Given the description of an element on the screen output the (x, y) to click on. 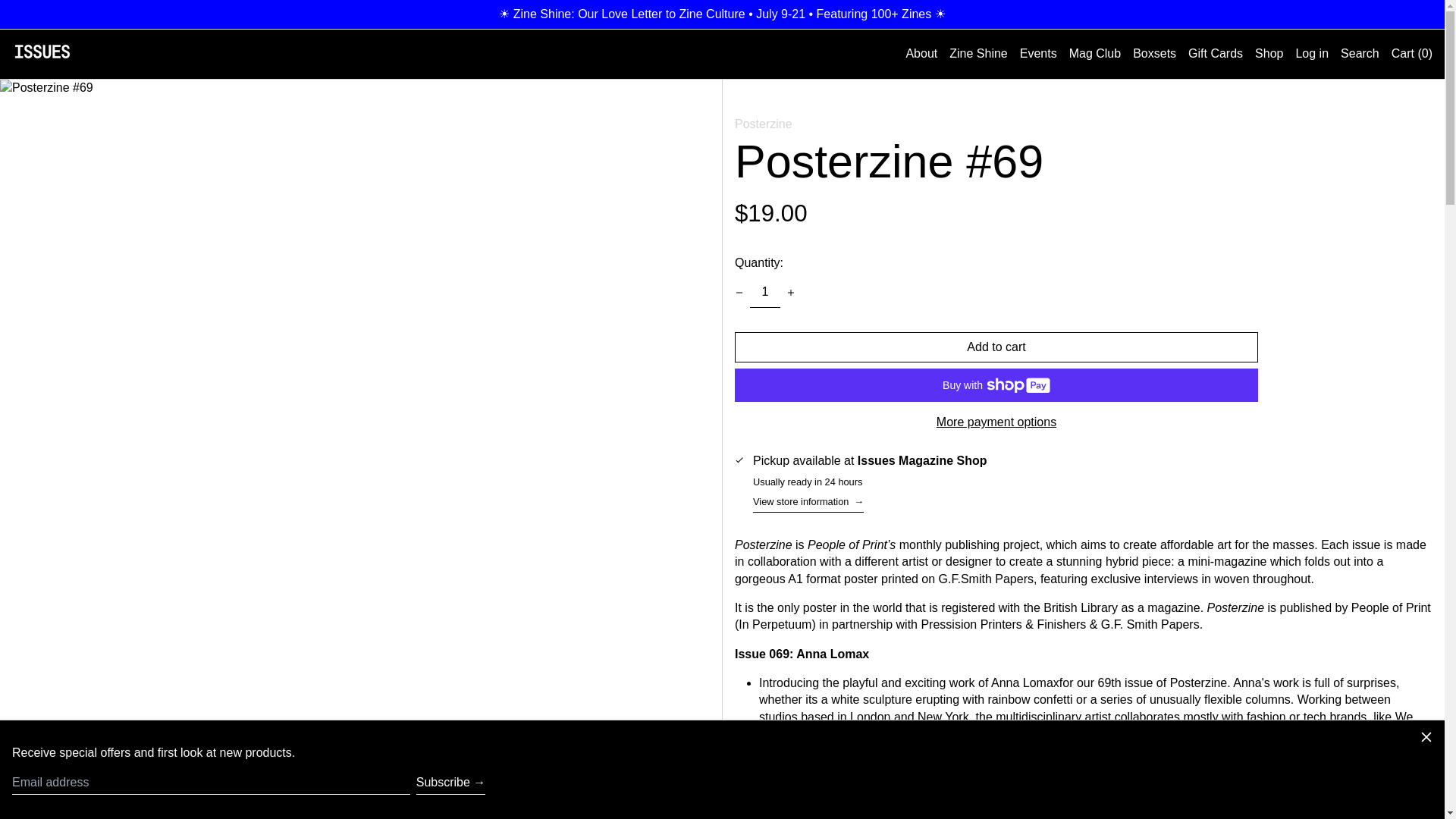
Posterzine (763, 123)
1 (764, 292)
